Given the description of an element on the screen output the (x, y) to click on. 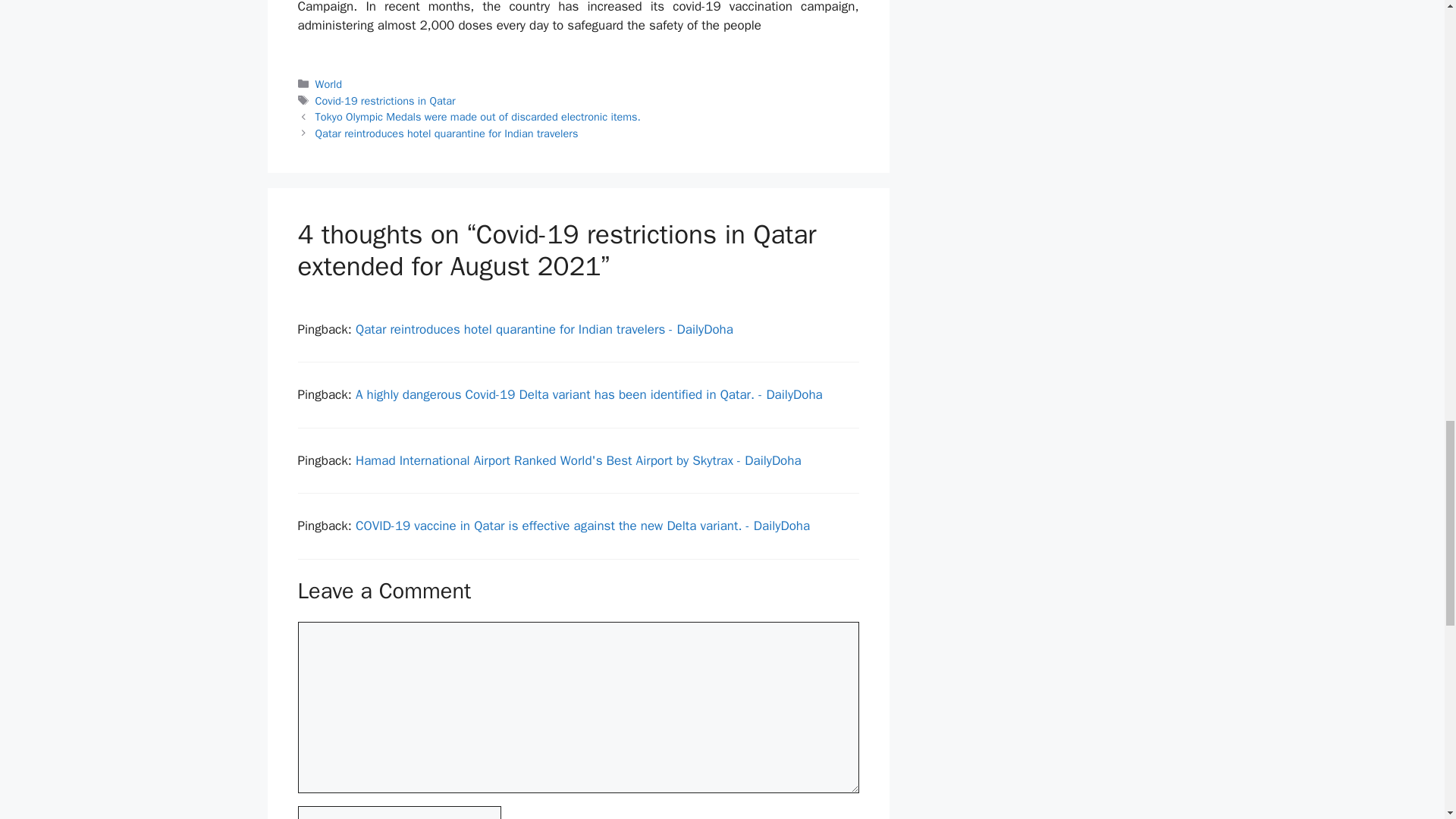
Covid-19 restrictions in Qatar (385, 100)
World (328, 83)
Qatar reintroduces hotel quarantine for Indian travelers (446, 133)
